Given the description of an element on the screen output the (x, y) to click on. 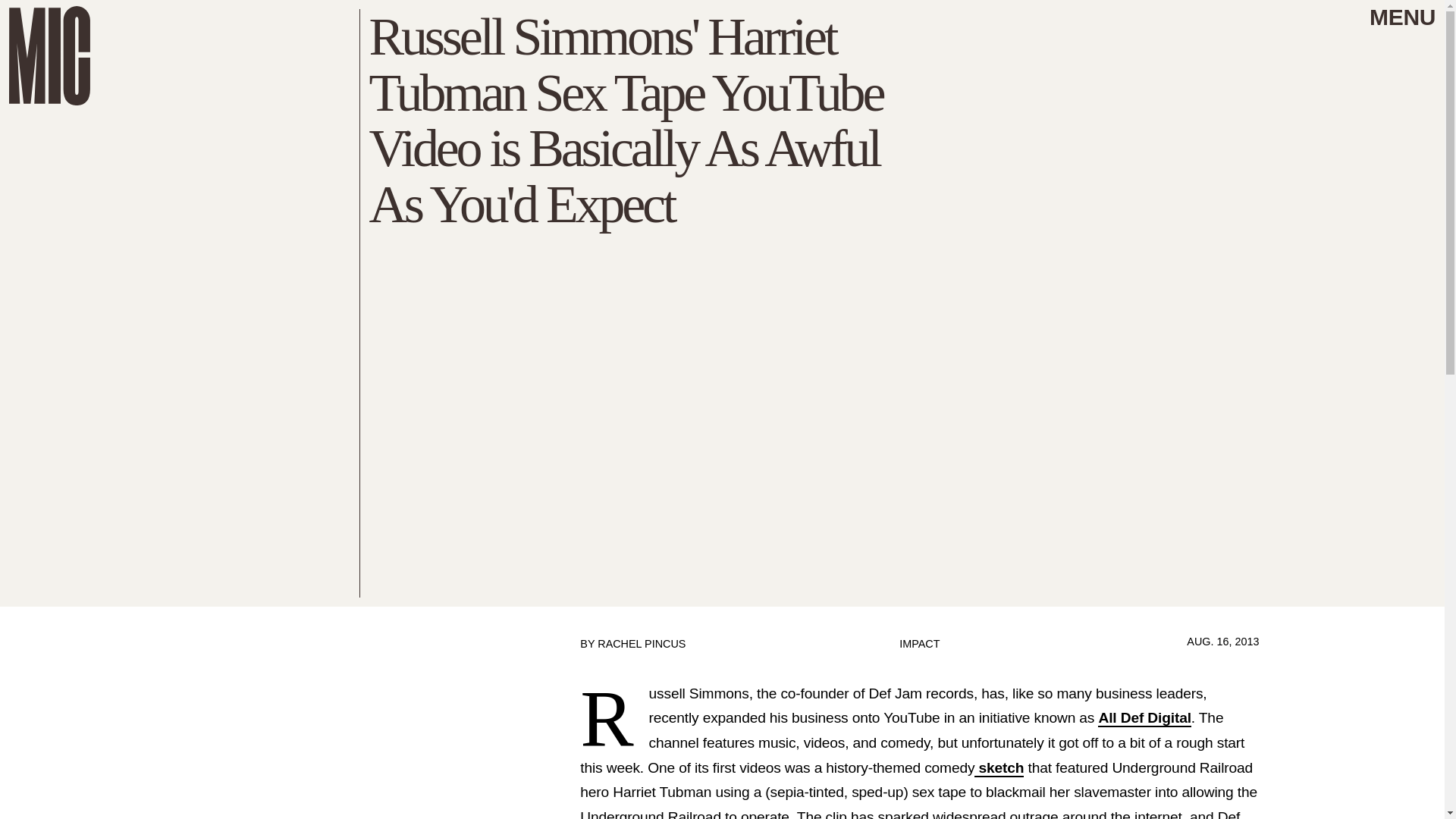
sketch (998, 768)
All Def Digital (1144, 718)
RACHEL PINCUS (640, 644)
